Given the description of an element on the screen output the (x, y) to click on. 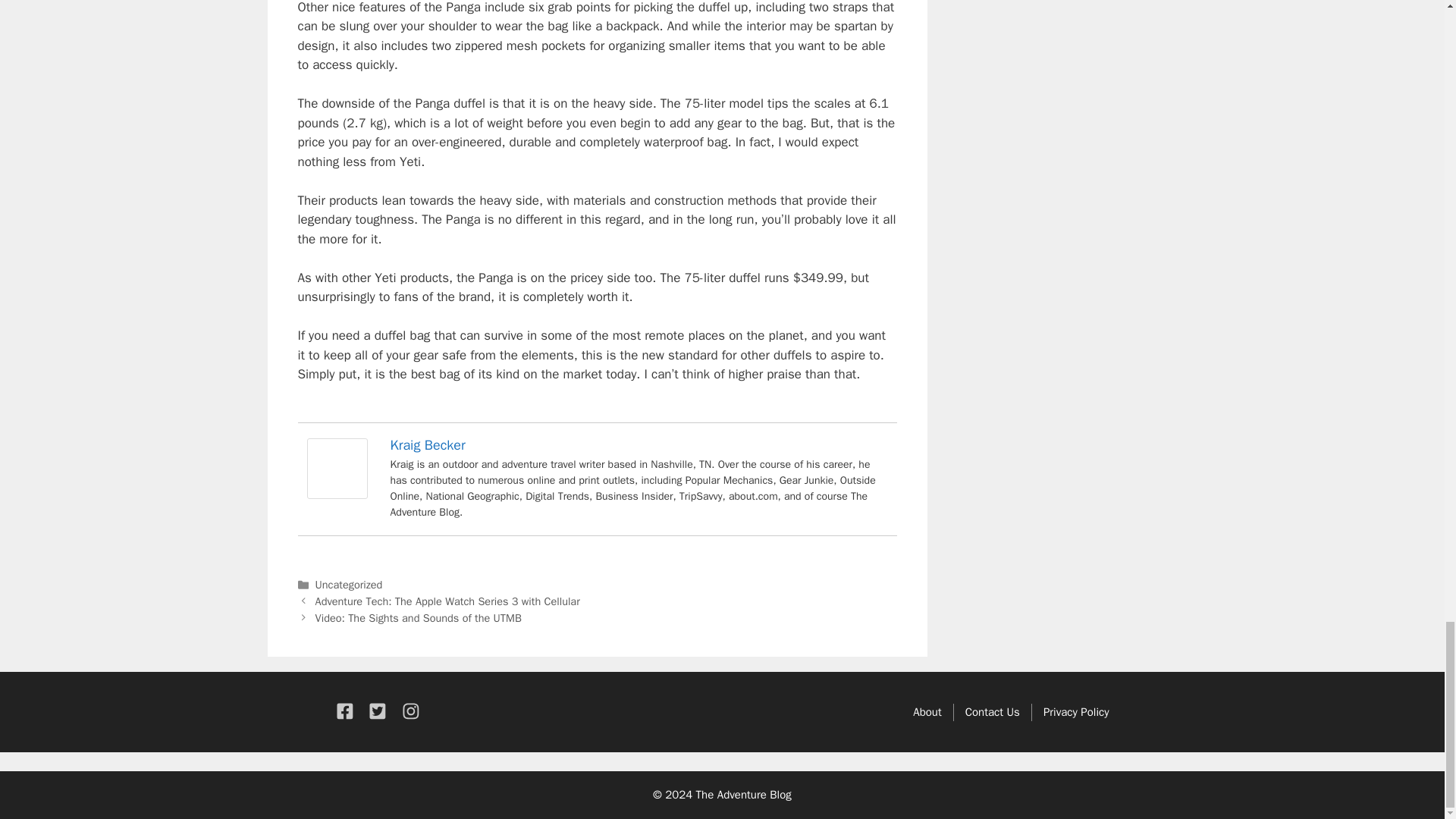
Adventure Tech: The Apple Watch Series 3 with Cellular (447, 601)
Kraig Becker (427, 444)
Video: The Sights and Sounds of the UTMB (418, 617)
Uncategorized (348, 584)
Kraig Becker (335, 494)
